Given the description of an element on the screen output the (x, y) to click on. 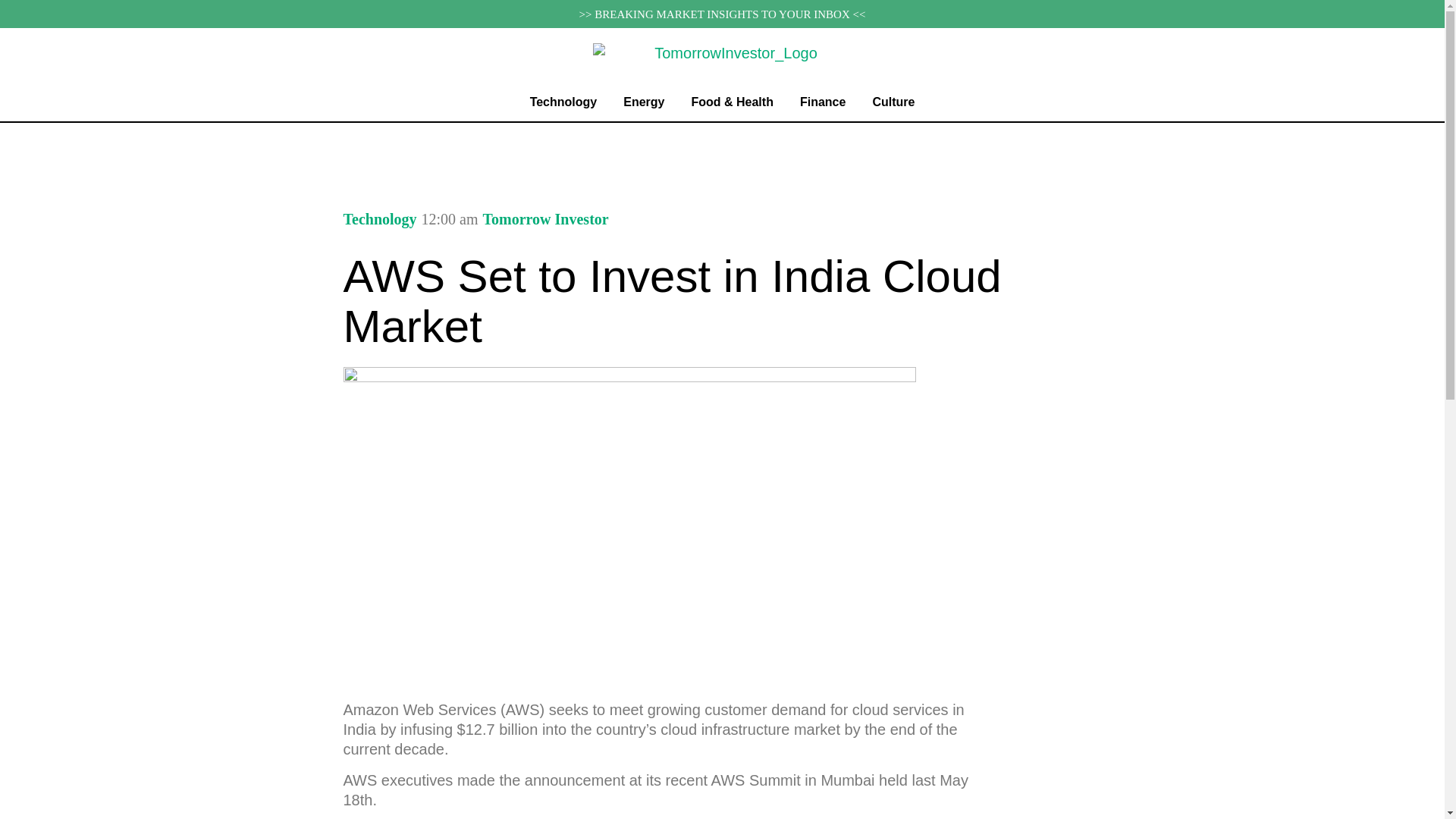
Technology (563, 102)
tradingview (722, 146)
Culture (892, 102)
Tomorrow Investor (545, 219)
Energy (644, 102)
Finance (822, 102)
Technology (379, 218)
